Given the description of an element on the screen output the (x, y) to click on. 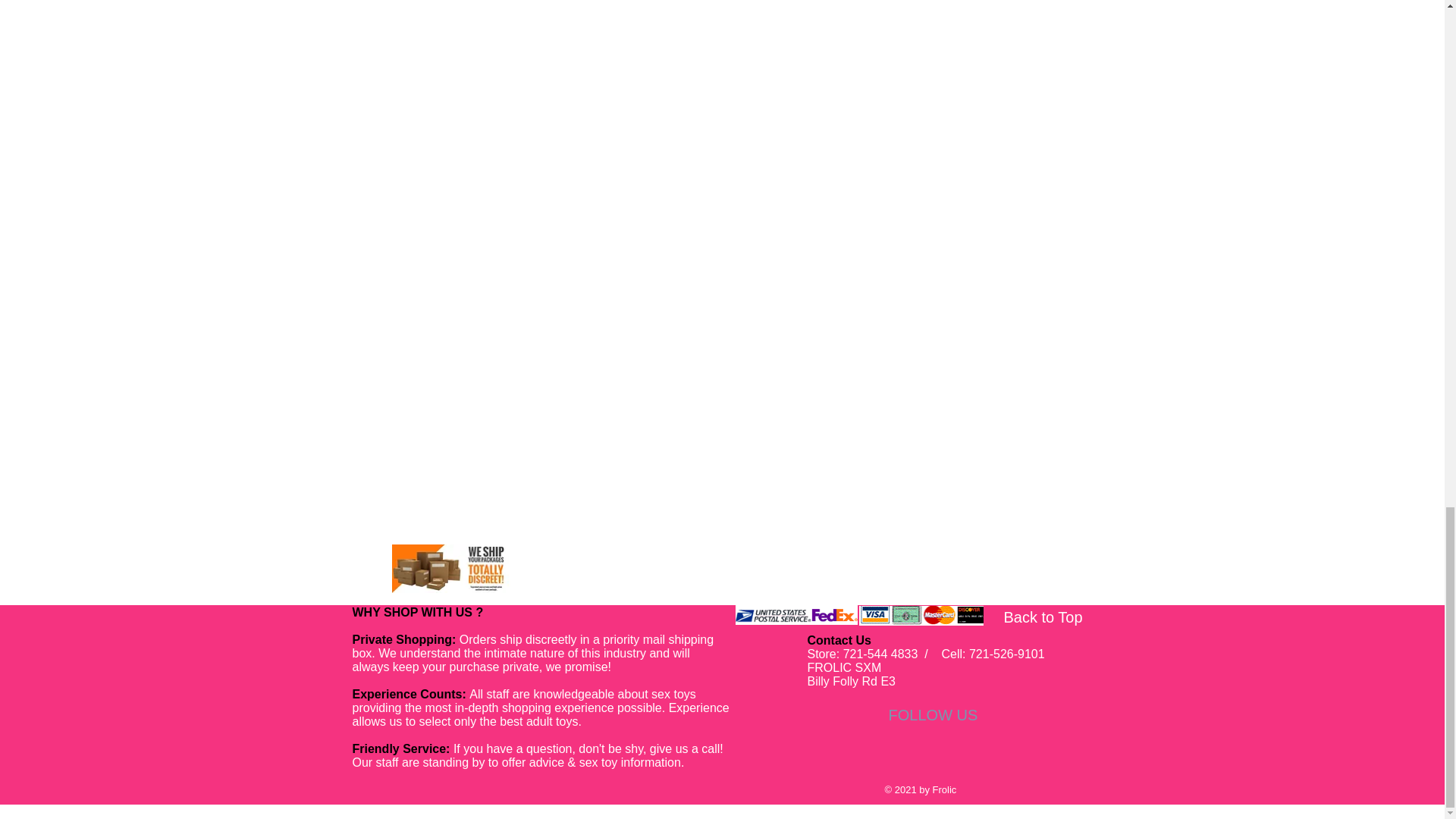
Back to Top (1043, 617)
